Given the description of an element on the screen output the (x, y) to click on. 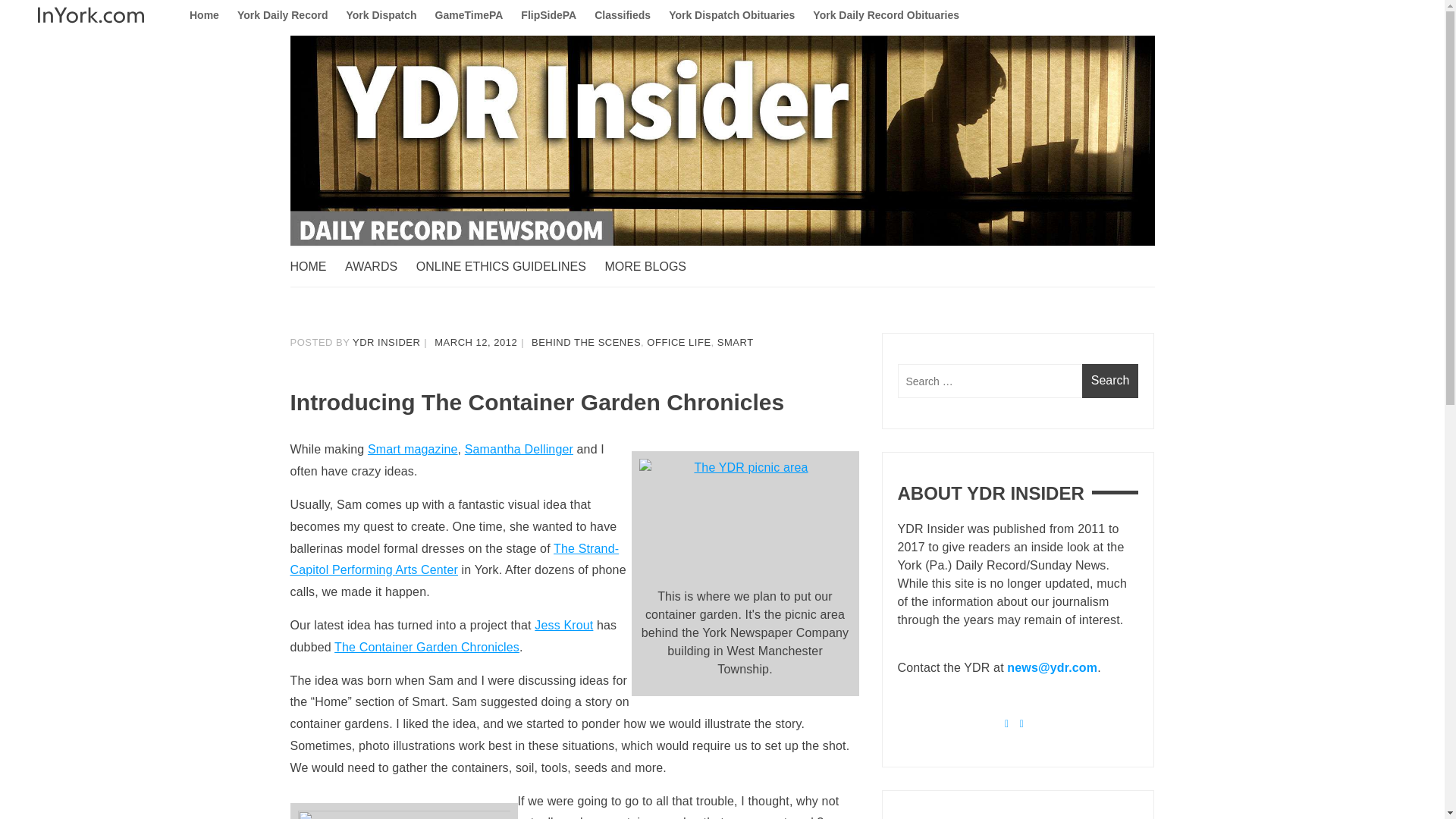
picnicarea (744, 518)
Jess Krout (563, 625)
AWARDS (378, 266)
ONLINE ETHICS GUIDELINES (508, 266)
Search (1109, 380)
SMART (735, 342)
MARCH 12, 2012 (474, 342)
YDR INSIDER (386, 342)
Smart magazine (413, 449)
Search (1109, 380)
